Given the description of an element on the screen output the (x, y) to click on. 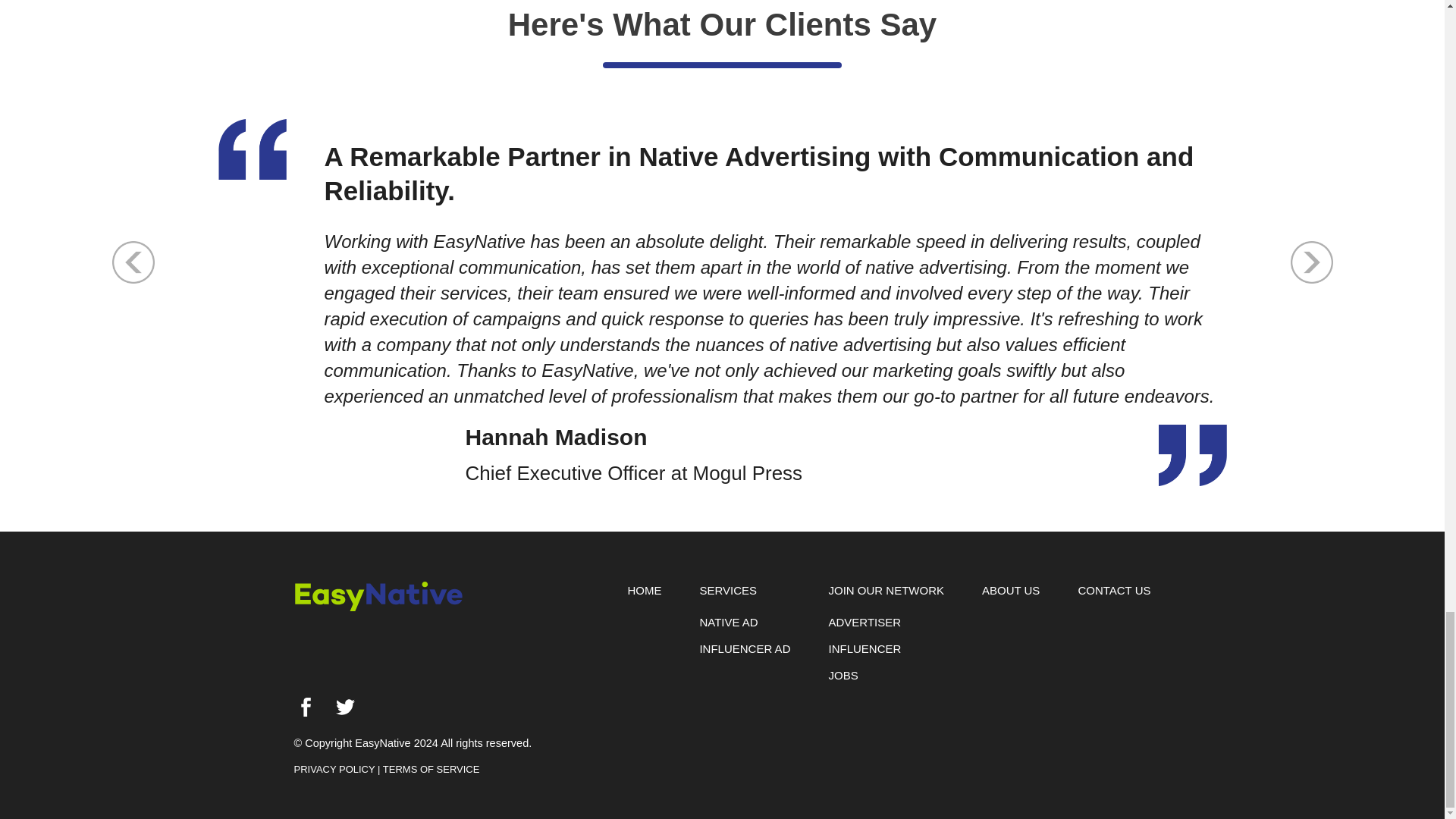
HOME (644, 589)
ABOUT US (1010, 589)
Next (1311, 261)
ADVERTISER (864, 622)
TERMS OF SERVICE (431, 768)
JOBS (842, 675)
Previous (133, 261)
SERVICES (727, 589)
INFLUENCER AD (744, 648)
NATIVE AD (727, 622)
JOIN OUR NETWORK (885, 589)
CONTACT US (1113, 589)
INFLUENCER (864, 648)
PRIVACY POLICY (334, 768)
